Given the description of an element on the screen output the (x, y) to click on. 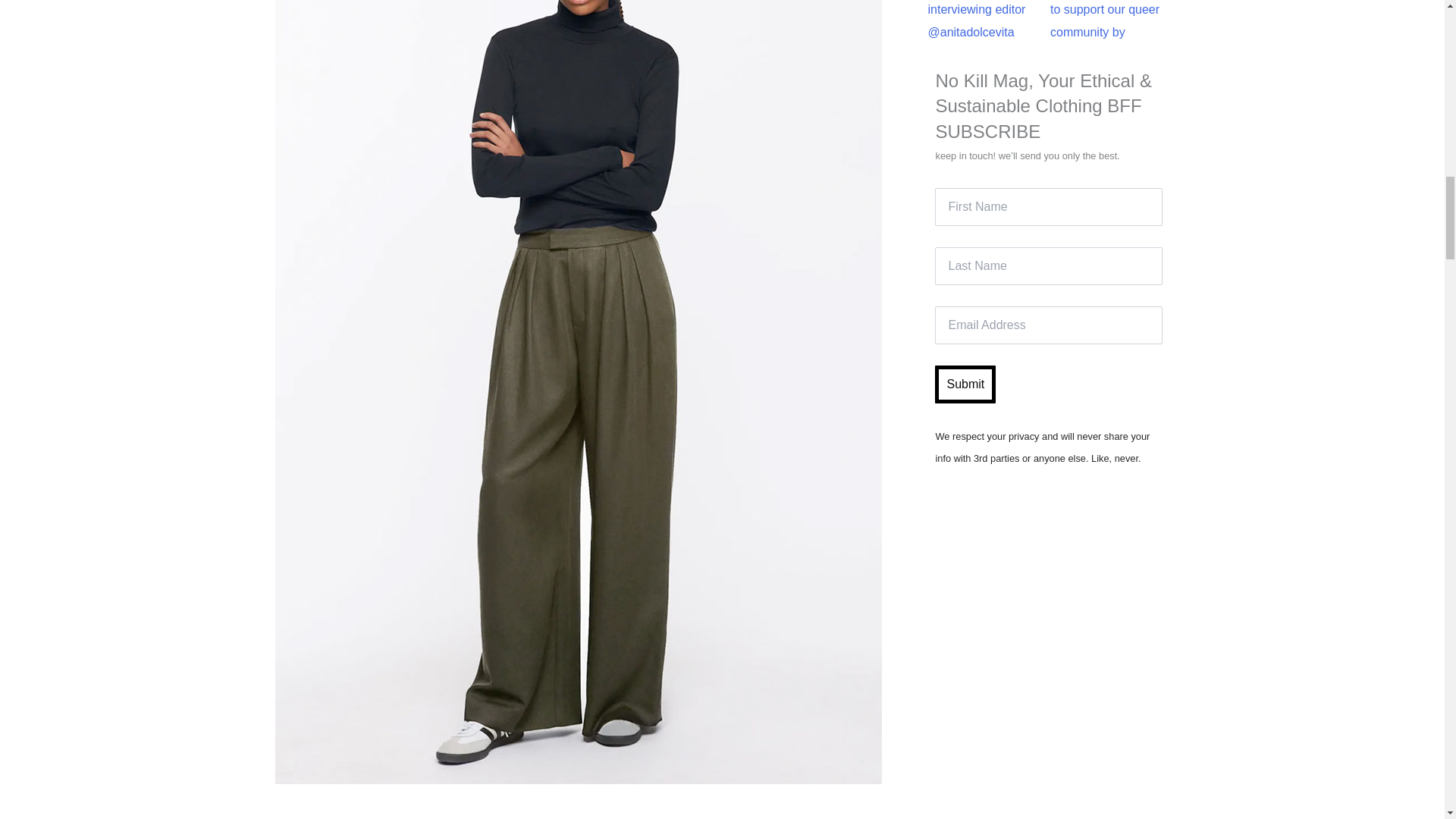
plaza trouser (382, 817)
Submit (964, 384)
